Given the description of an element on the screen output the (x, y) to click on. 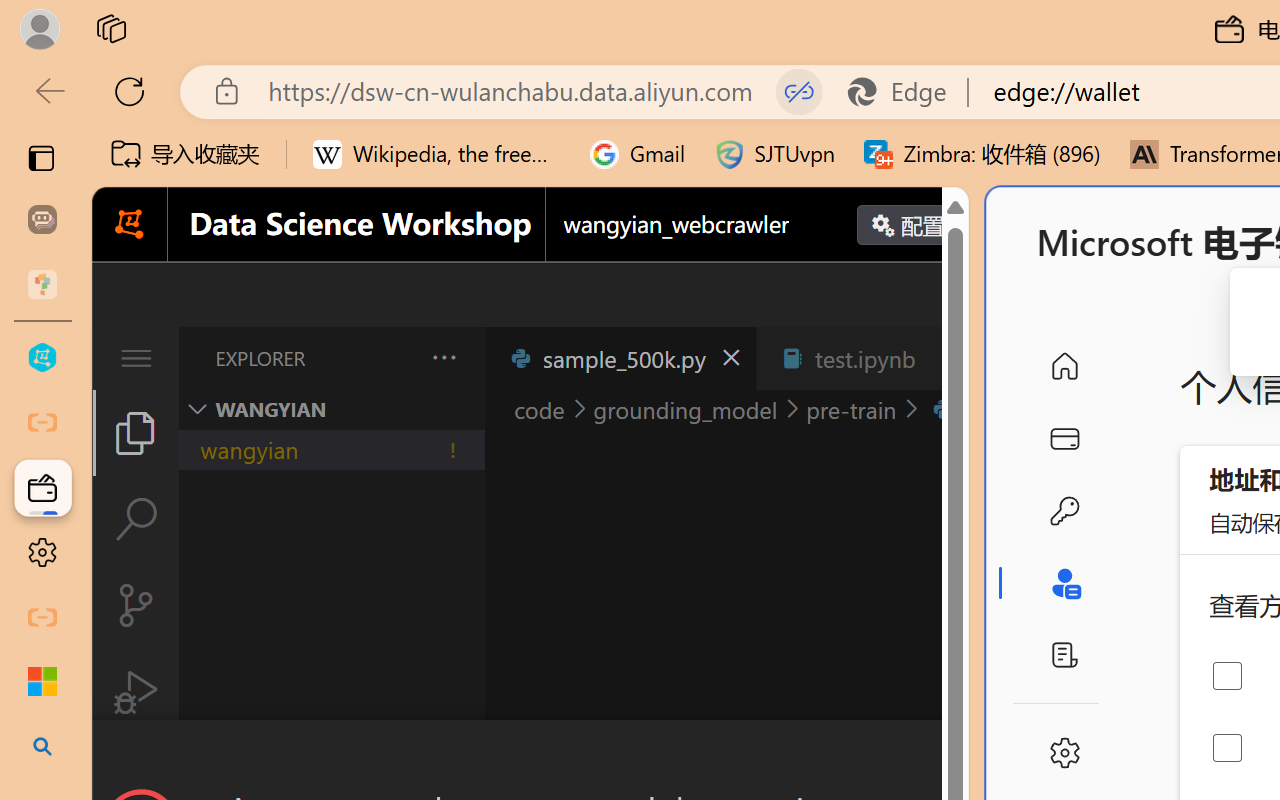
Class: actions-container (529, 756)
Microsoft security help and learning (42, 681)
Explorer actions (391, 358)
Class: menubar compact overflow-menu-only (135, 358)
Views and More Actions... (442, 357)
